Given the description of an element on the screen output the (x, y) to click on. 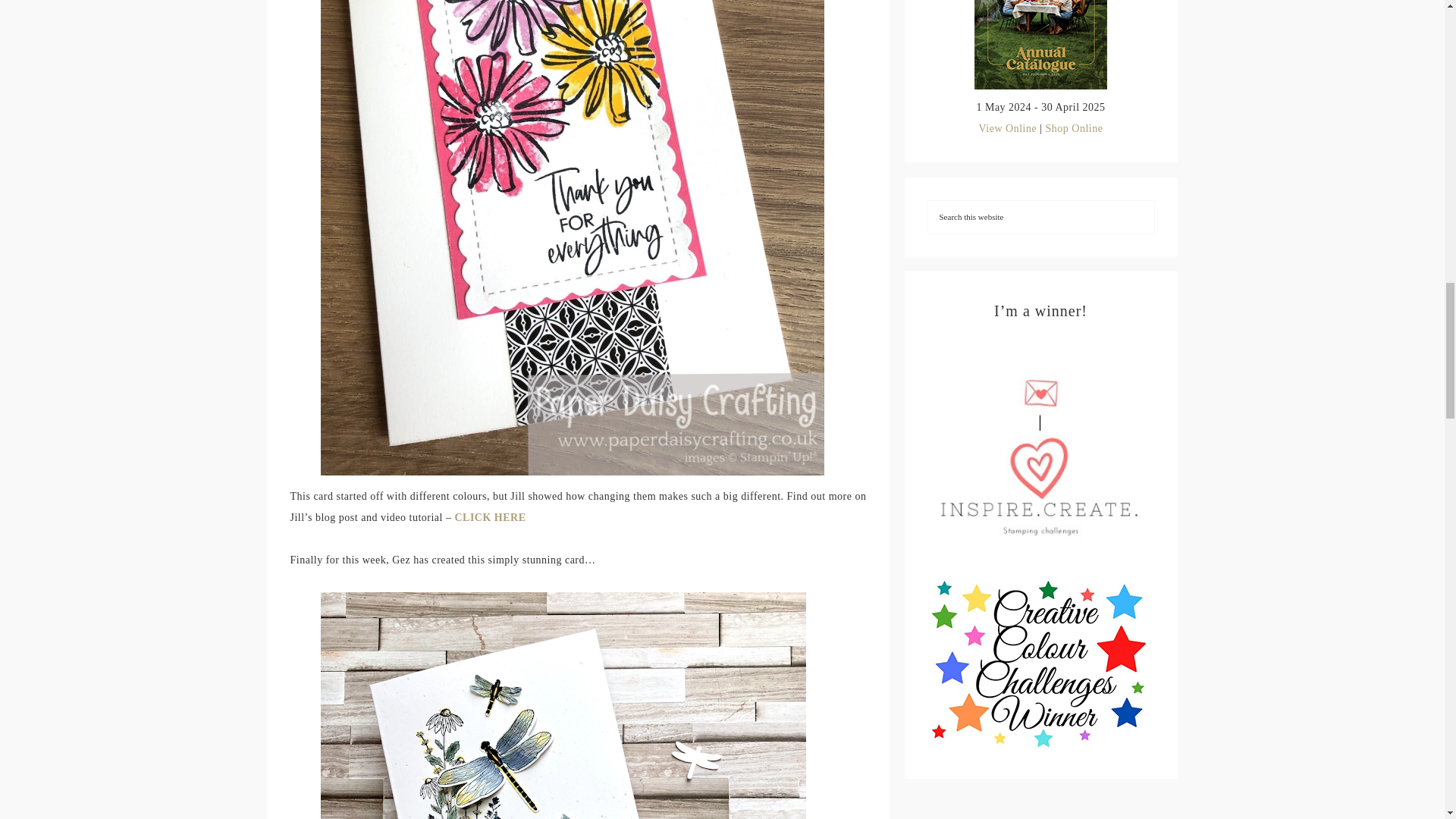
CLICK HERE (489, 517)
